Given the description of an element on the screen output the (x, y) to click on. 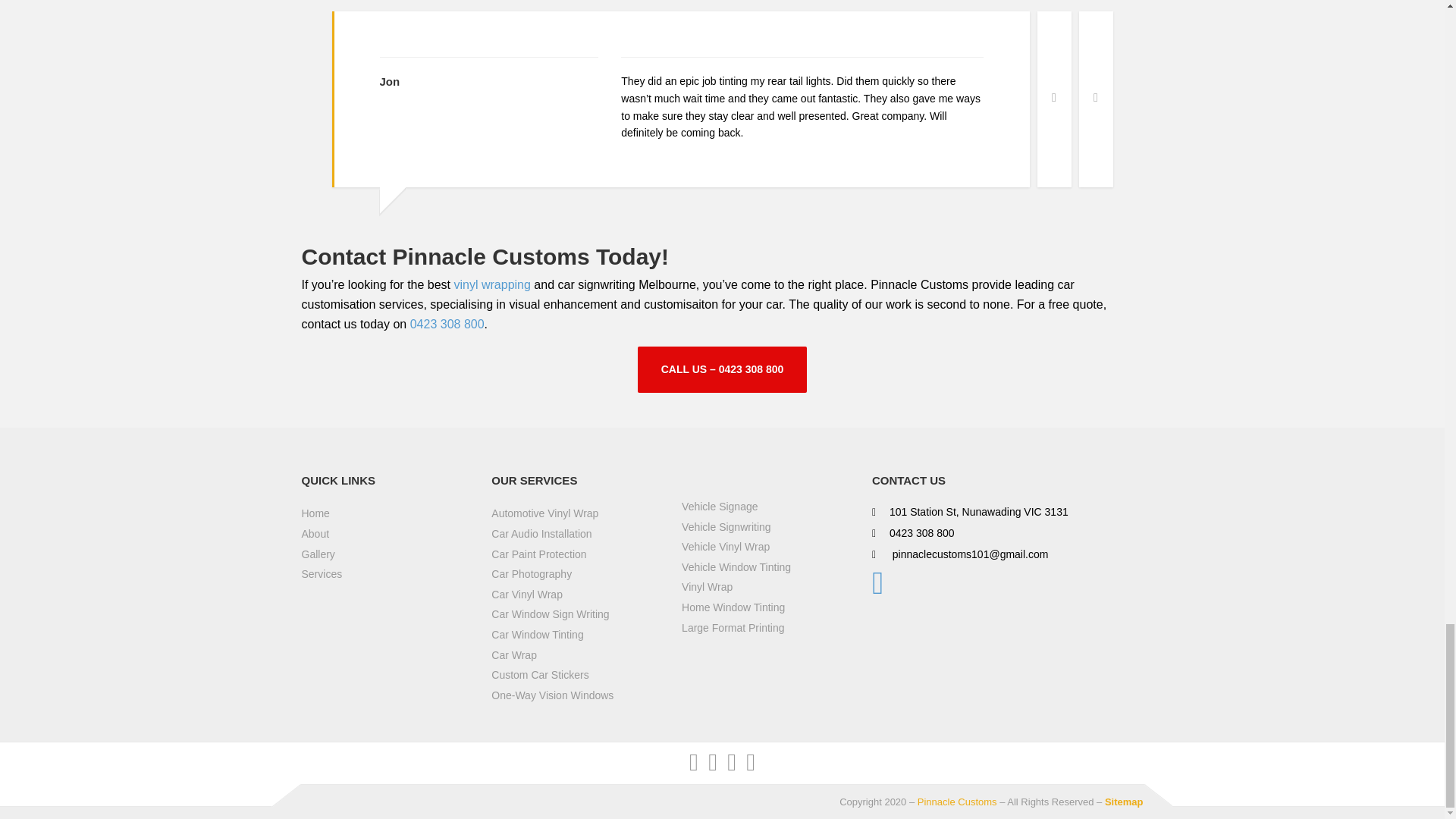
vinyl wrapping (490, 284)
0423 308 800 (447, 323)
